Given the description of an element on the screen output the (x, y) to click on. 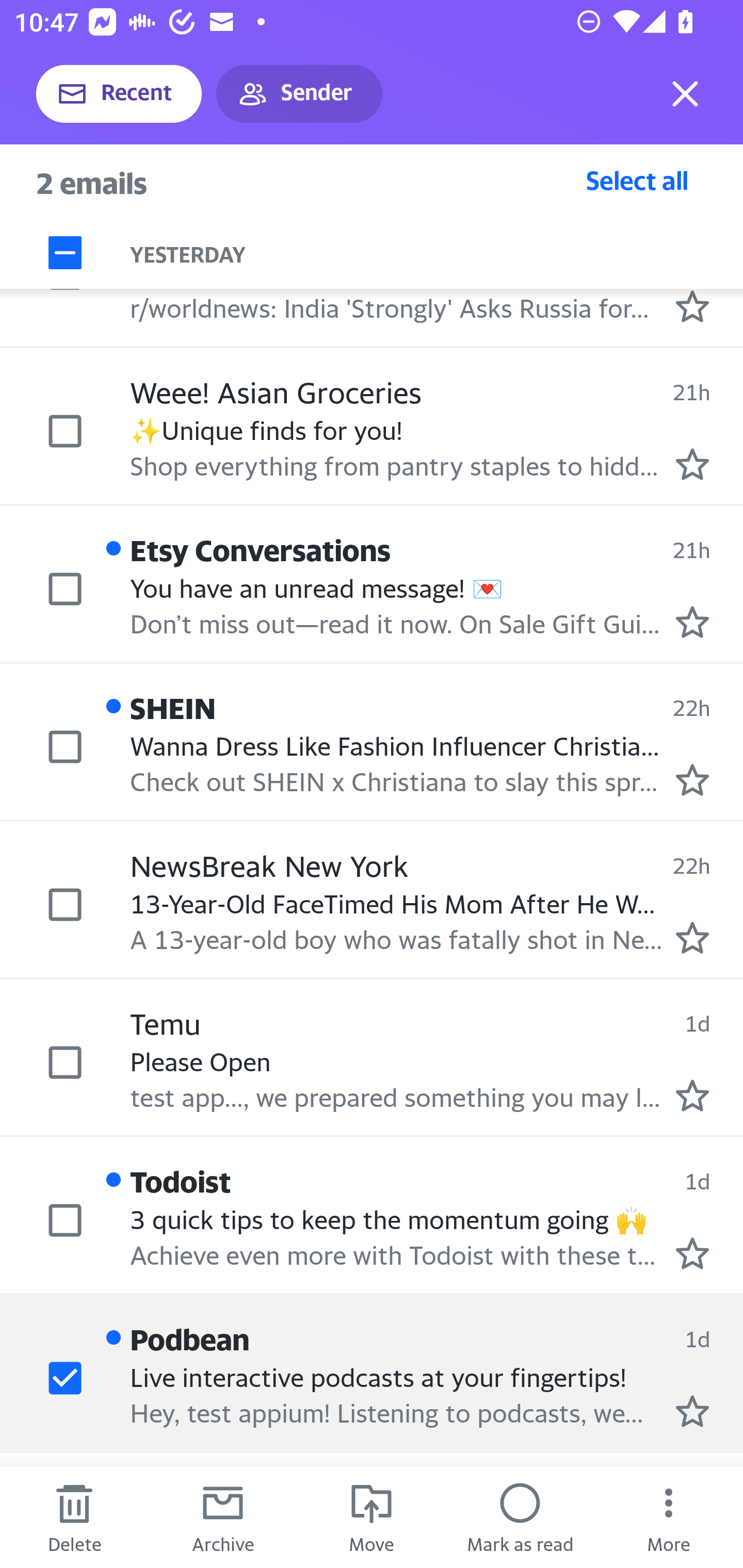
Sender (299, 93)
Exit selection mode (684, 93)
Select all (637, 180)
Mark as starred. (692, 306)
Mark as starred. (692, 464)
Mark as starred. (692, 621)
Mark as starred. (692, 780)
Mark as starred. (692, 938)
Mark as starred. (692, 1095)
Mark as starred. (692, 1253)
Mark as starred. (692, 1411)
Delete (74, 1517)
Archive (222, 1517)
Move (371, 1517)
Mark as read (519, 1517)
More (668, 1517)
